Given the description of an element on the screen output the (x, y) to click on. 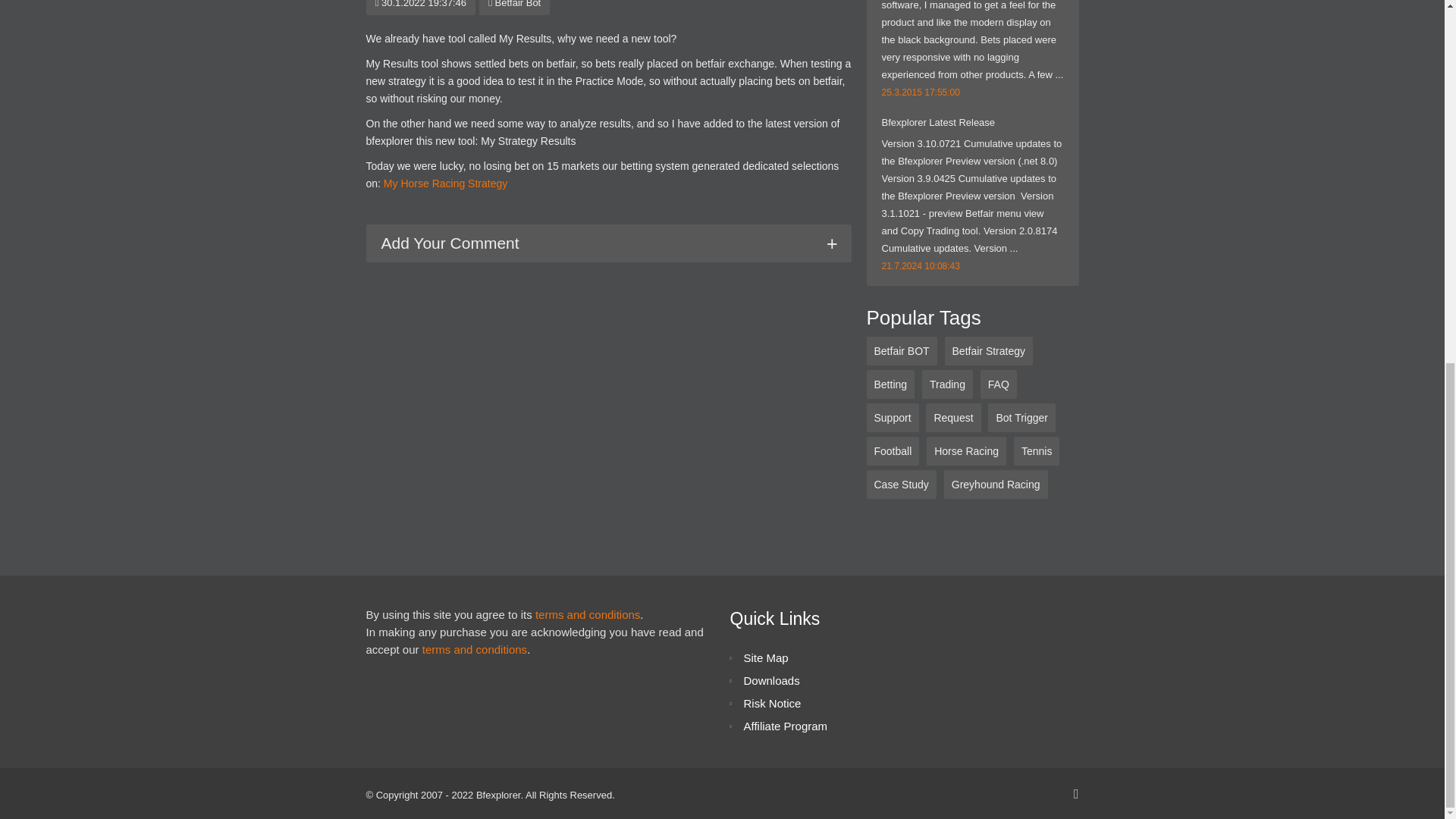
Betfair Bot (513, 4)
Betfair BOT (901, 350)
Bfexplorer Latest Release (937, 122)
My Horse Racing Strategy (445, 183)
